Given the description of an element on the screen output the (x, y) to click on. 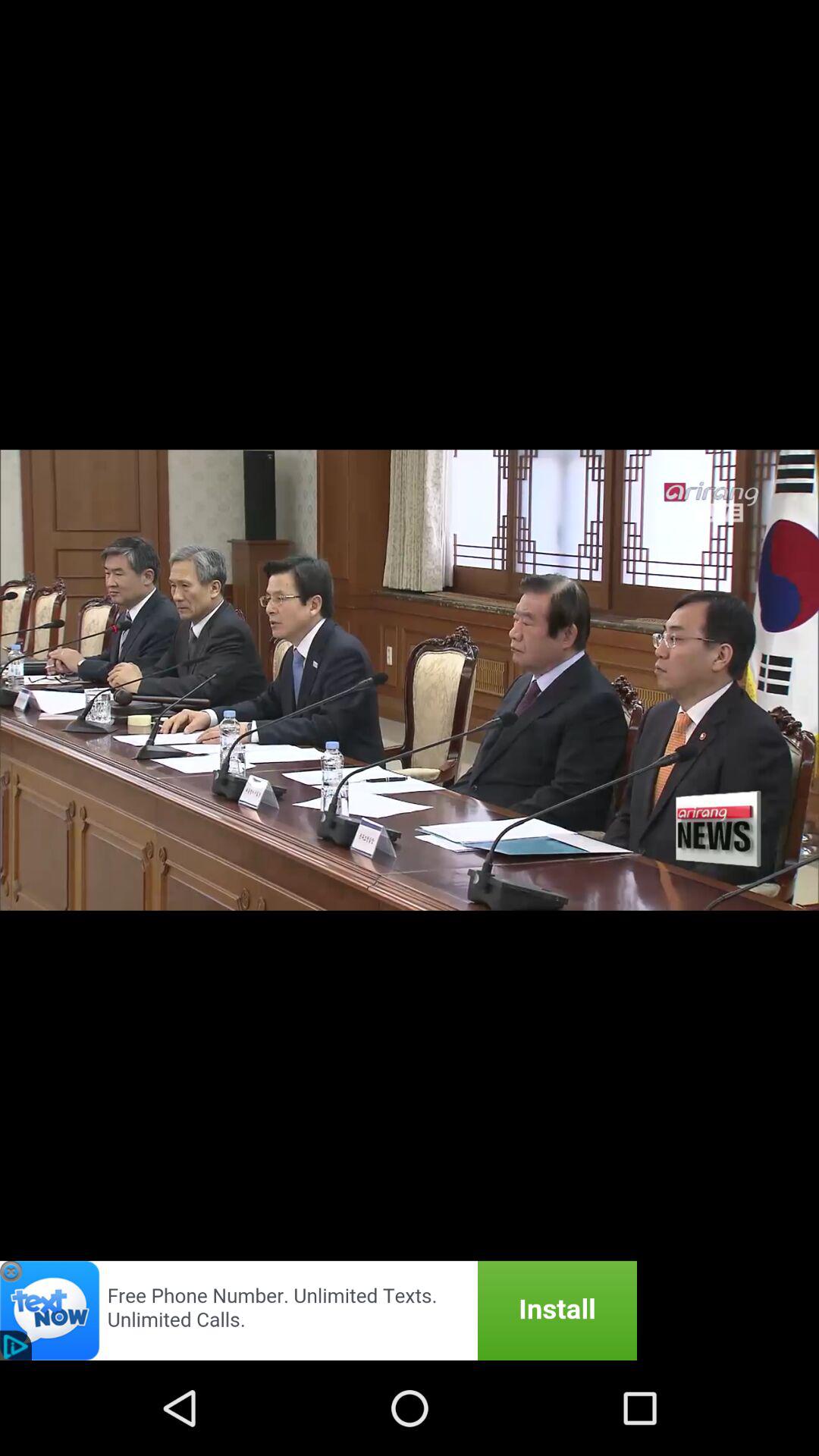
space where you access advertising (318, 1310)
